Given the description of an element on the screen output the (x, y) to click on. 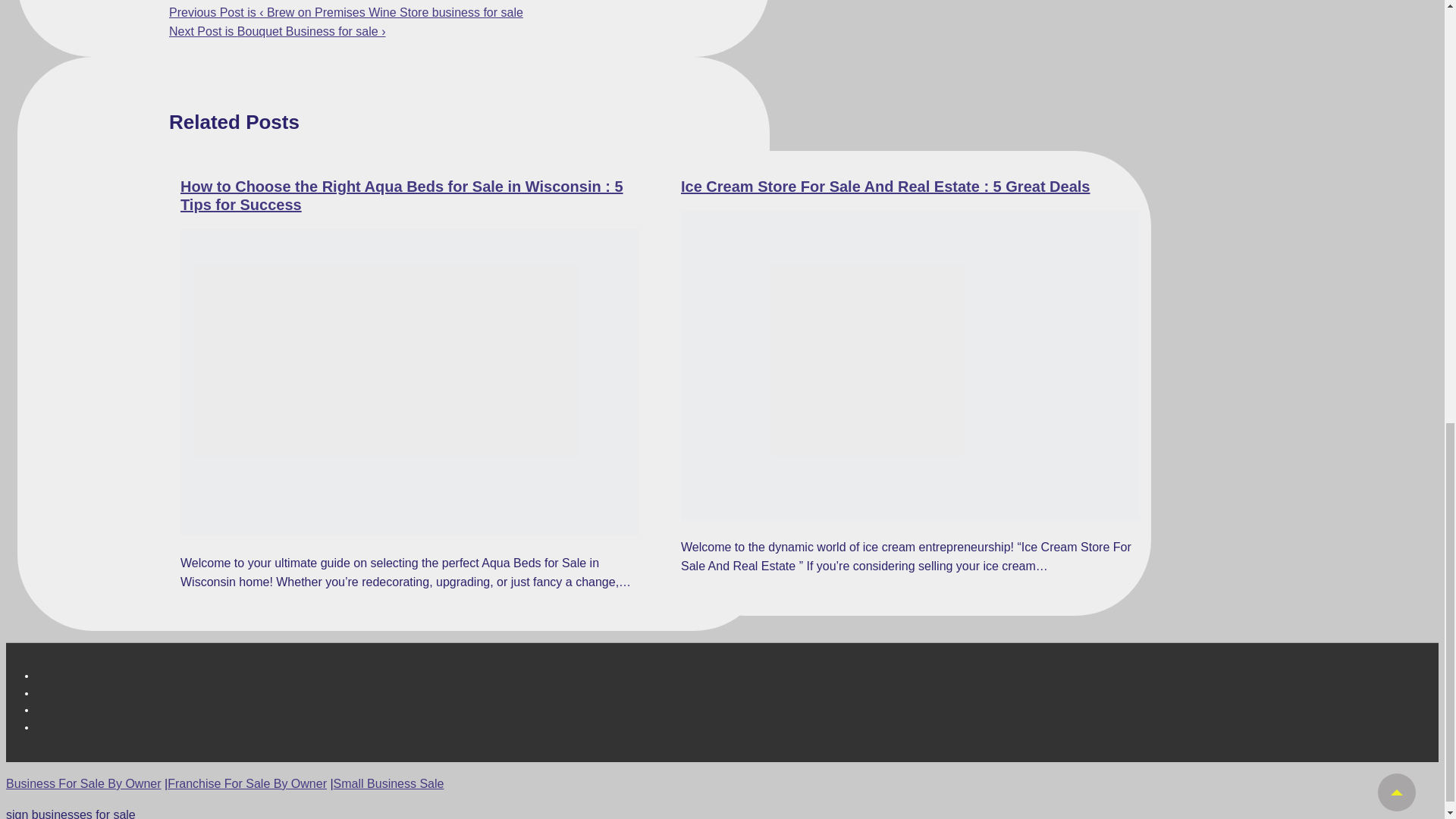
Ice Cream Store For Sale And Real Estate : 5 Great Deals (885, 186)
